Given the description of an element on the screen output the (x, y) to click on. 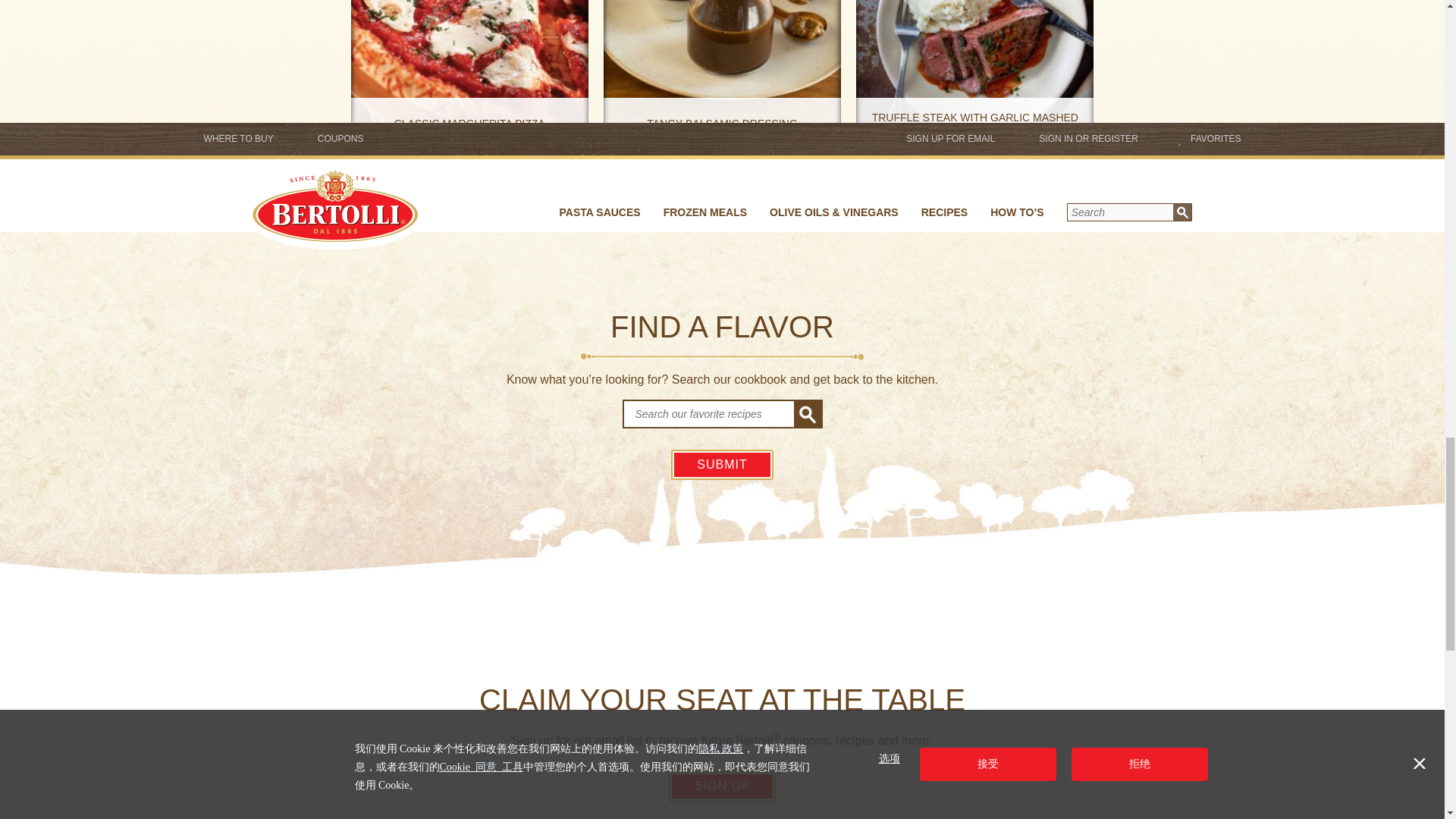
Search (707, 413)
submit (721, 464)
